Given the description of an element on the screen output the (x, y) to click on. 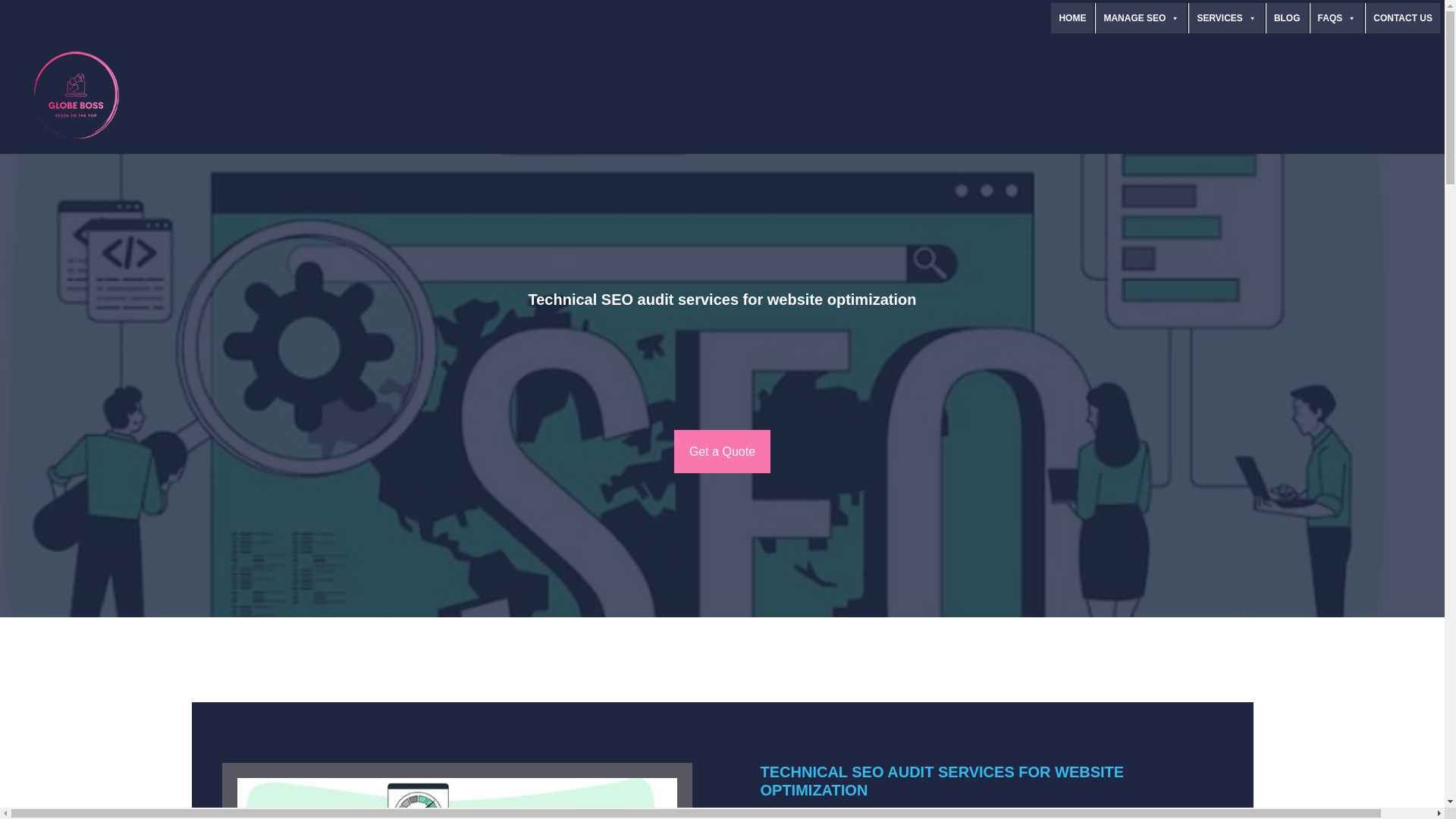
SERVICES (1226, 18)
MANAGE SEO (1141, 18)
SEO Services (1226, 18)
SEO Project Management (1141, 18)
HOME (1072, 18)
SEO Agency Dublin (1072, 18)
